Given the description of an element on the screen output the (x, y) to click on. 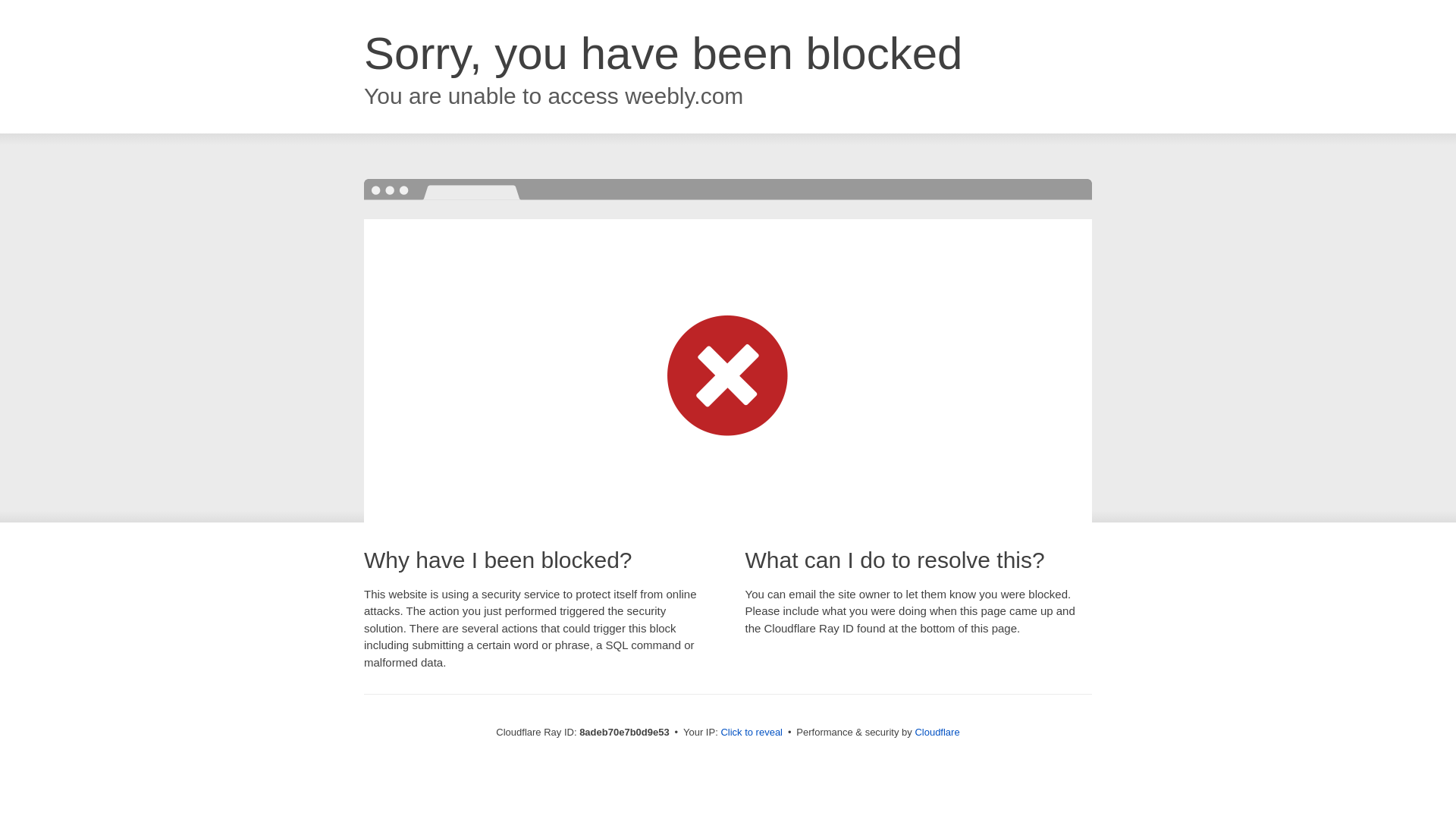
Cloudflare (936, 731)
Click to reveal (751, 732)
